Given the description of an element on the screen output the (x, y) to click on. 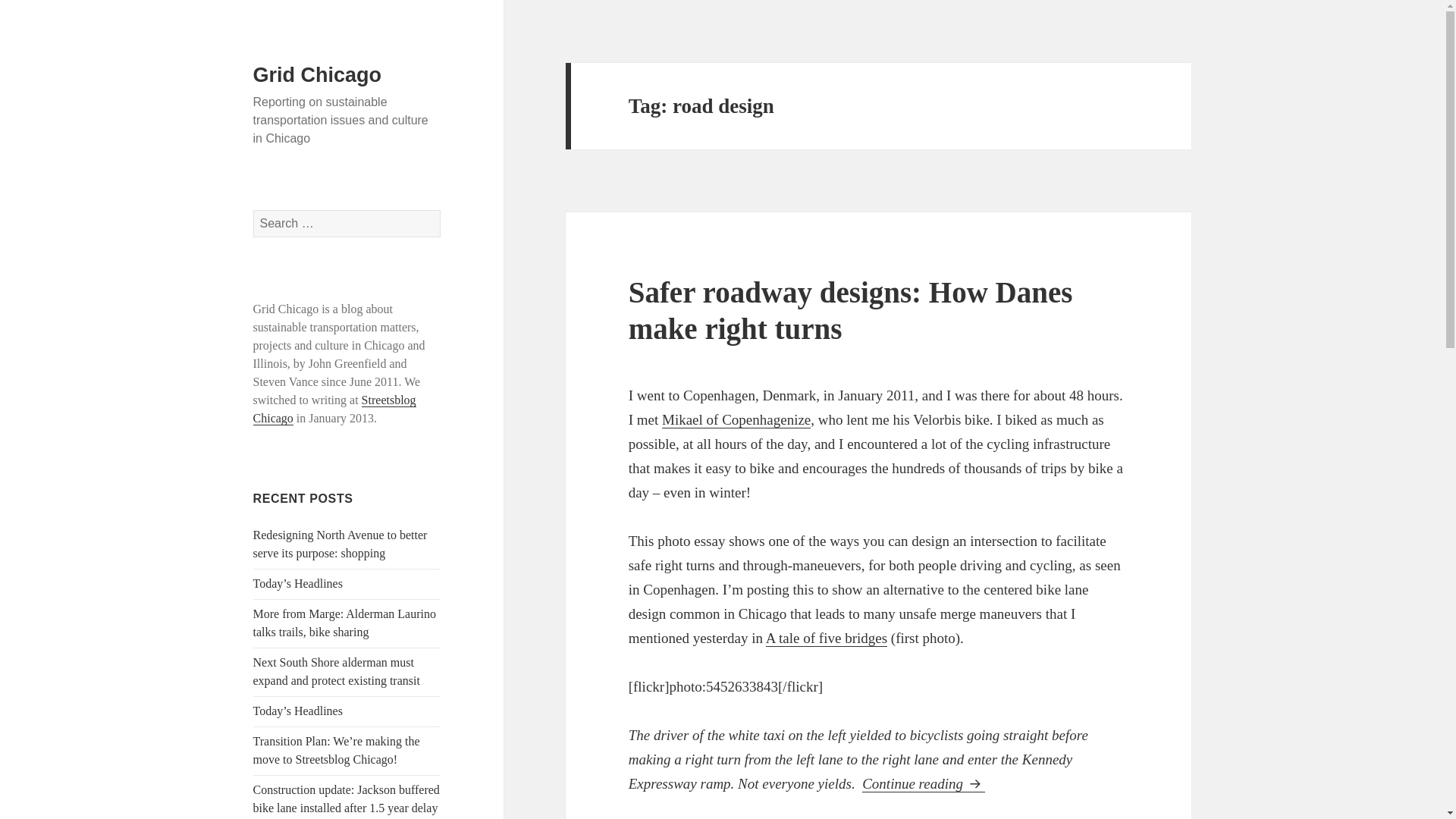
Safer roadway designs: How Danes make right turns (850, 310)
A tale of five bridges (825, 638)
Grid Chicago (317, 74)
More from Marge: Alderman Laurino talks trails, bike sharing (344, 622)
Streetsblog Chicago (334, 409)
A tale of five bridges (825, 638)
Mikael of Copenhagenize (736, 419)
